Given the description of an element on the screen output the (x, y) to click on. 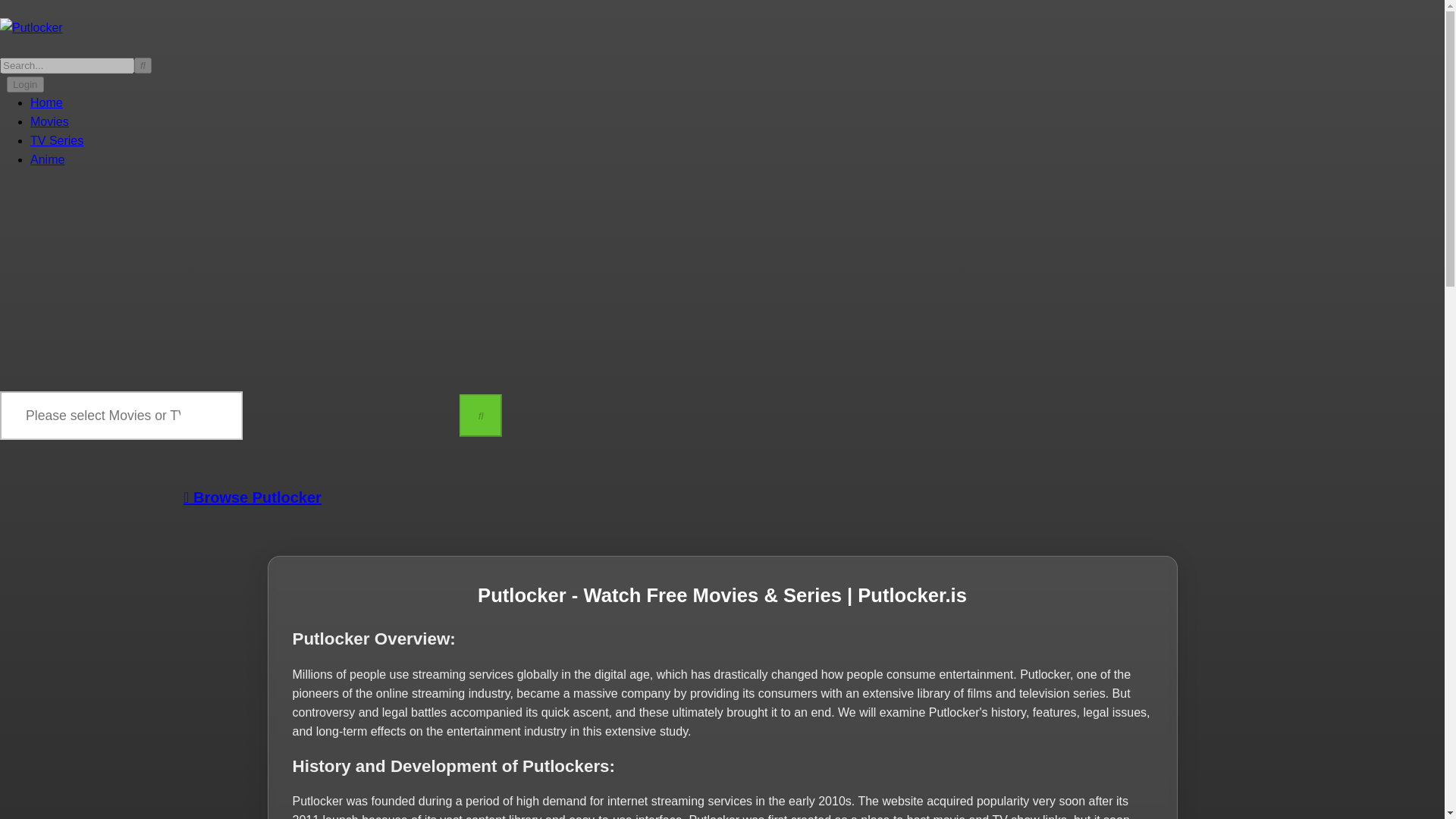
Anime (47, 159)
Home (46, 102)
Movies (49, 121)
Login (25, 84)
Search (142, 65)
TV Series (56, 140)
 Browse Putlocker (252, 497)
